Given the description of an element on the screen output the (x, y) to click on. 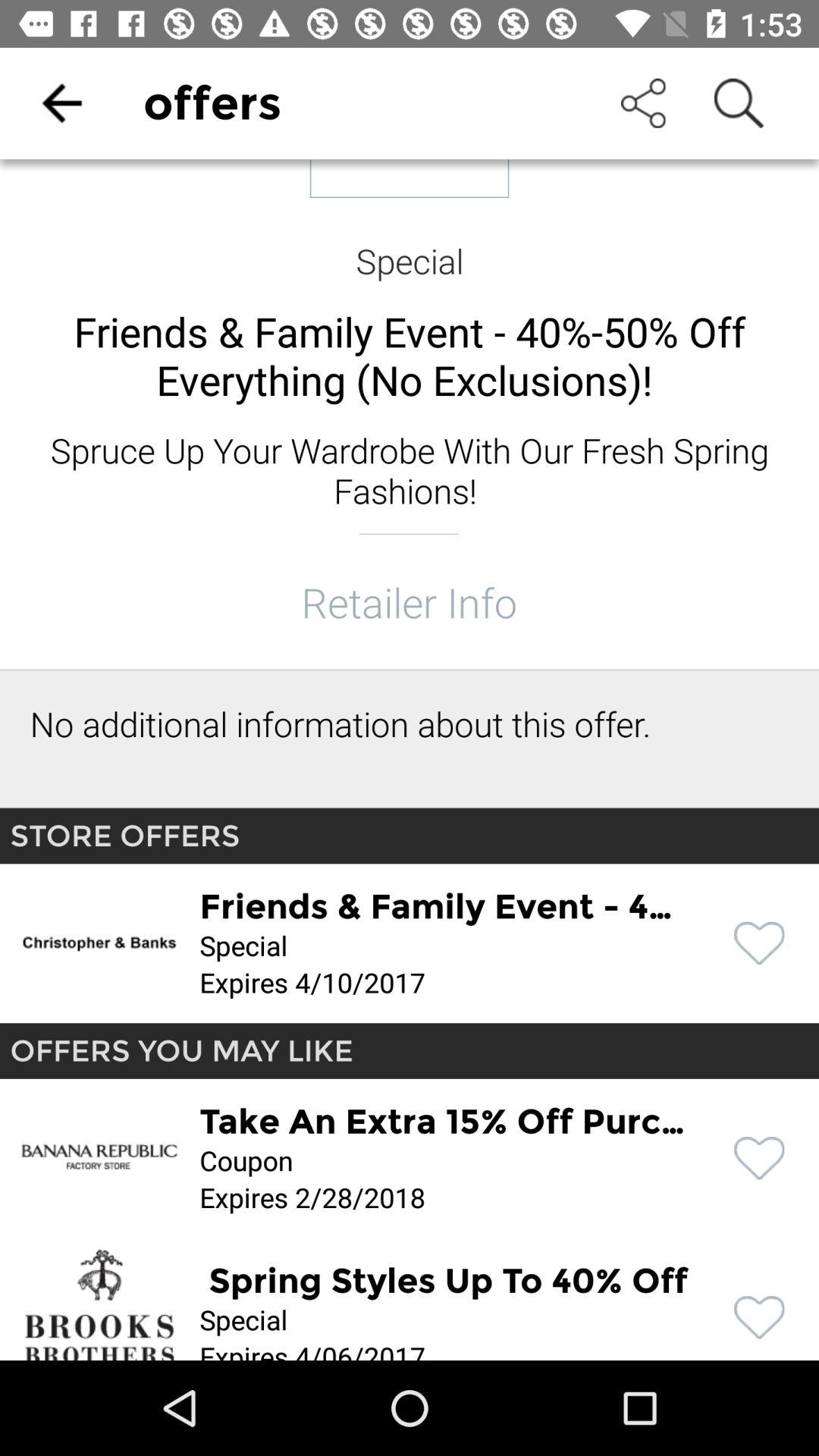
click the item next to offers item (61, 103)
